Given the description of an element on the screen output the (x, y) to click on. 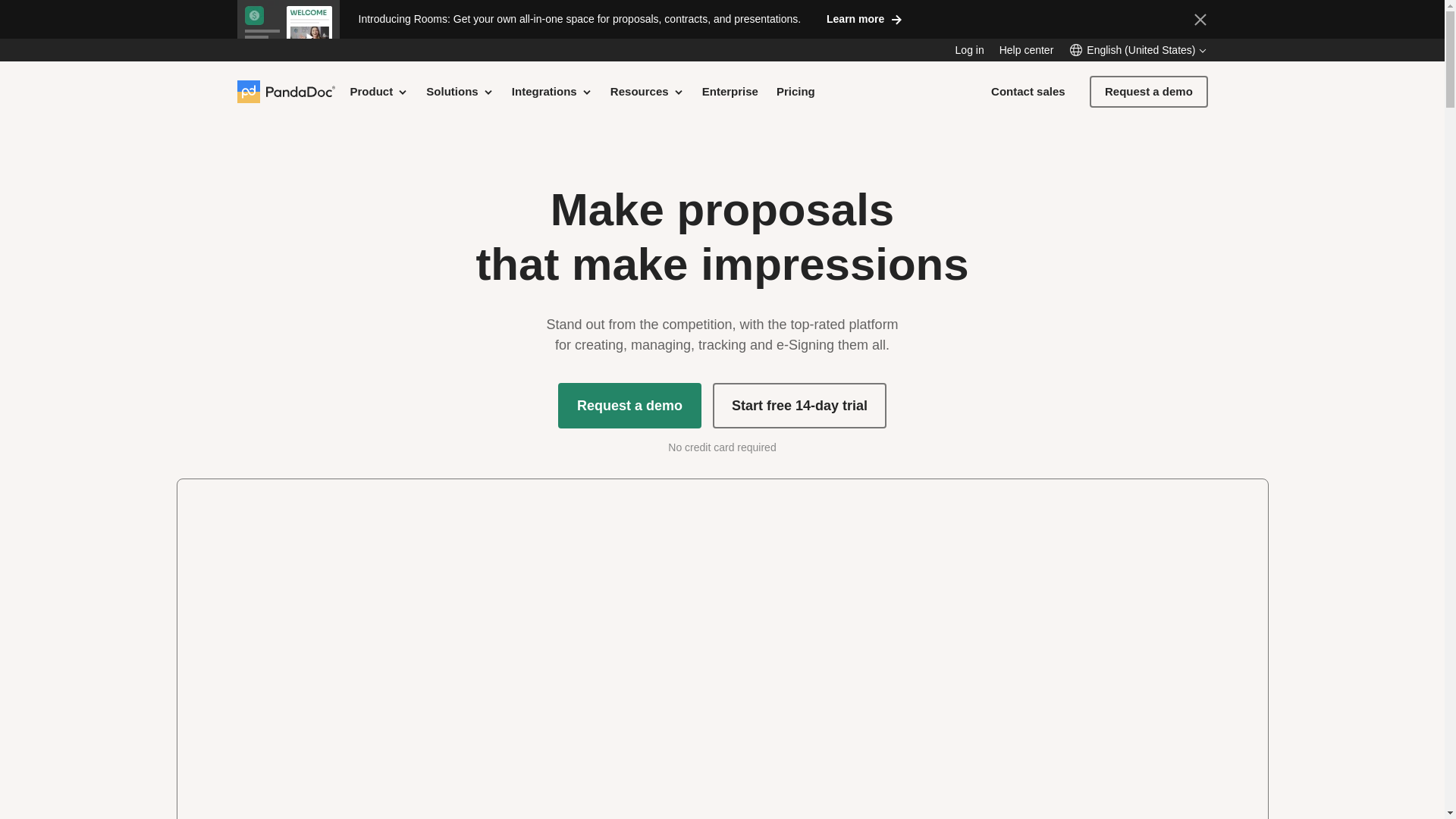
Log in (969, 50)
Learn more (864, 18)
Product (379, 91)
Solutions (459, 91)
Help center (1026, 50)
